Given the description of an element on the screen output the (x, y) to click on. 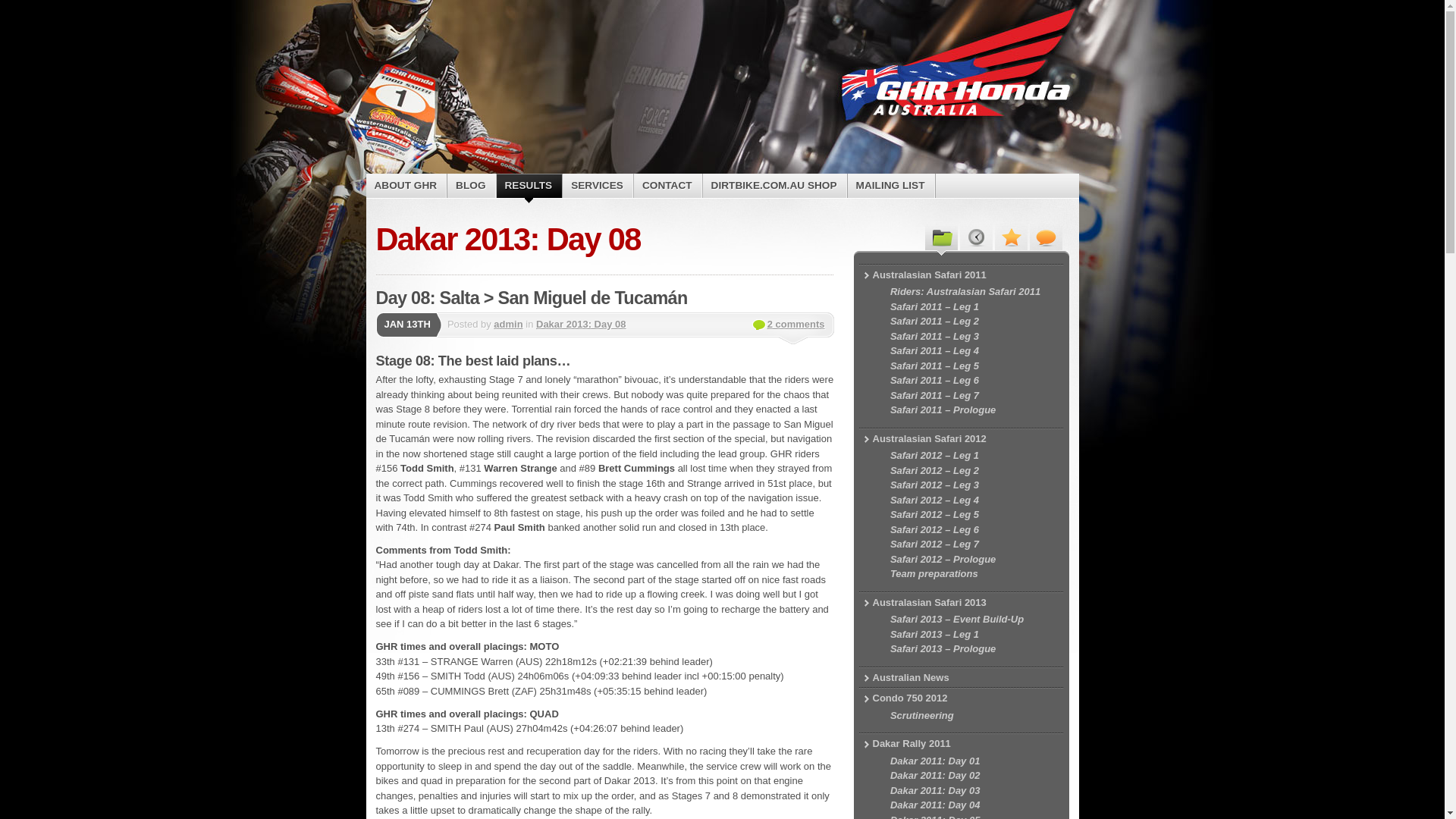
Categories Element type: hover (941, 236)
SERVICES Element type: text (597, 185)
Team preparations Element type: text (969, 573)
Archives Element type: hover (976, 236)
Condo 750 2012 Element type: text (960, 698)
Australasian Safari 2011 Element type: text (960, 275)
CONTACT Element type: text (667, 185)
DIRTBIKE.COM.AU SHOP Element type: text (774, 185)
Dakar 2013: Day 08 Element type: text (581, 323)
Dakar 2011: Day 01 Element type: text (969, 760)
MAILING LIST Element type: text (891, 185)
Australasian Safari 2012 Element type: text (960, 438)
Australasian Safari 2013 Element type: text (960, 602)
Dakar Rally 2011 Element type: text (960, 743)
BLOG Element type: text (471, 185)
Australian News Element type: text (960, 677)
admin Element type: text (507, 323)
Riders: Australasian Safari 2011 Element type: text (969, 291)
2 comments Element type: text (788, 323)
Popular posts Element type: hover (1010, 236)
Dakar 2011: Day 03 Element type: text (969, 790)
ABOUT GHR Element type: text (405, 185)
Scrutineering Element type: text (969, 715)
RESULTS Element type: text (529, 185)
Dakar 2011: Day 02 Element type: text (969, 775)
Recent comments Element type: hover (1045, 236)
Dakar 2011: Day 04 Element type: text (969, 804)
